Given the description of an element on the screen output the (x, y) to click on. 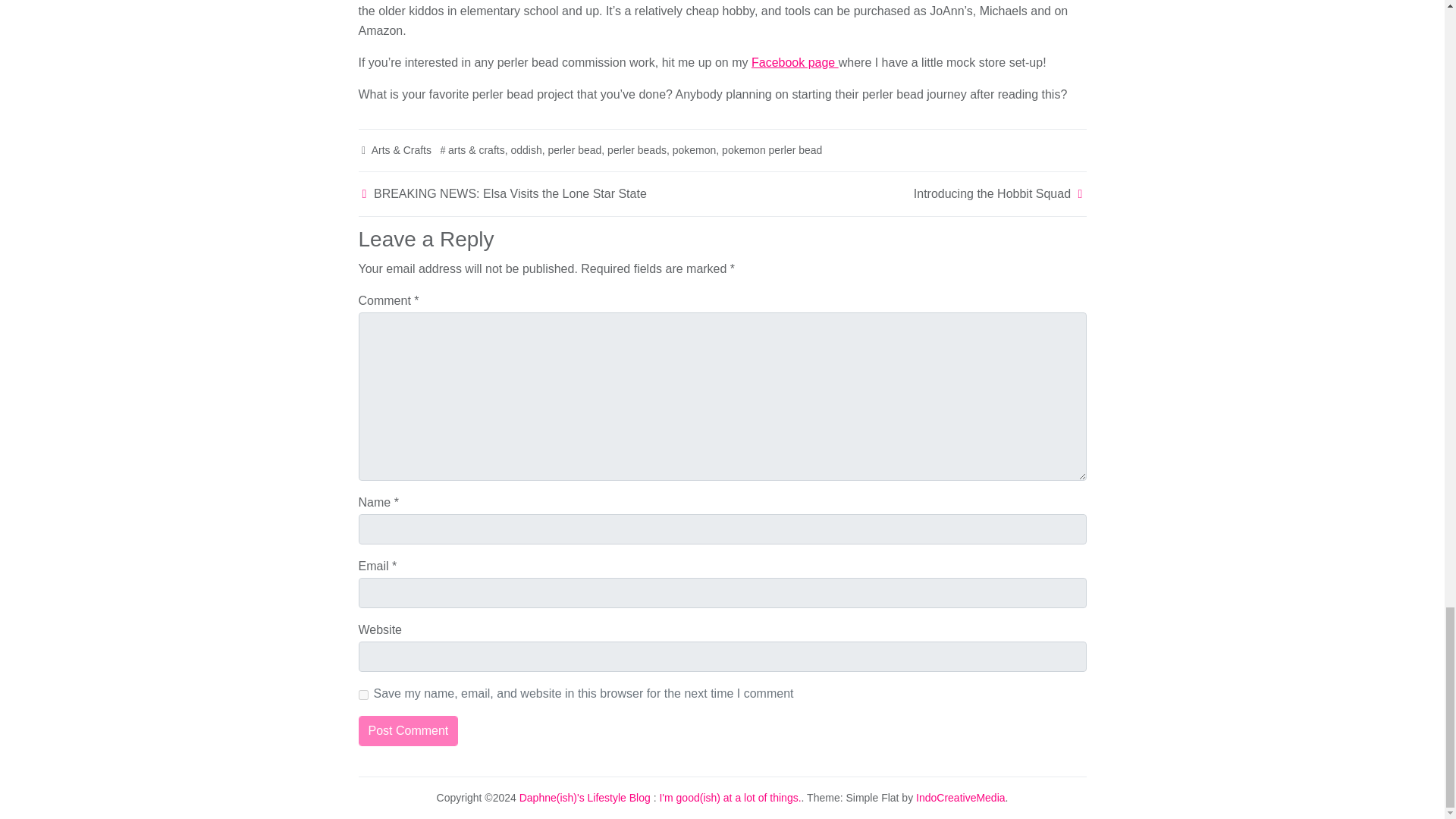
Post Comment (408, 730)
oddish (526, 150)
BREAKING NEWS: Elsa Visits the Lone Star State (510, 193)
Post Comment (408, 730)
perler beads (636, 150)
pokemon (694, 150)
IndoCreativeMedia (960, 797)
yes (363, 695)
pokemon perler bead (772, 150)
perler bead (574, 150)
